Given the description of an element on the screen output the (x, y) to click on. 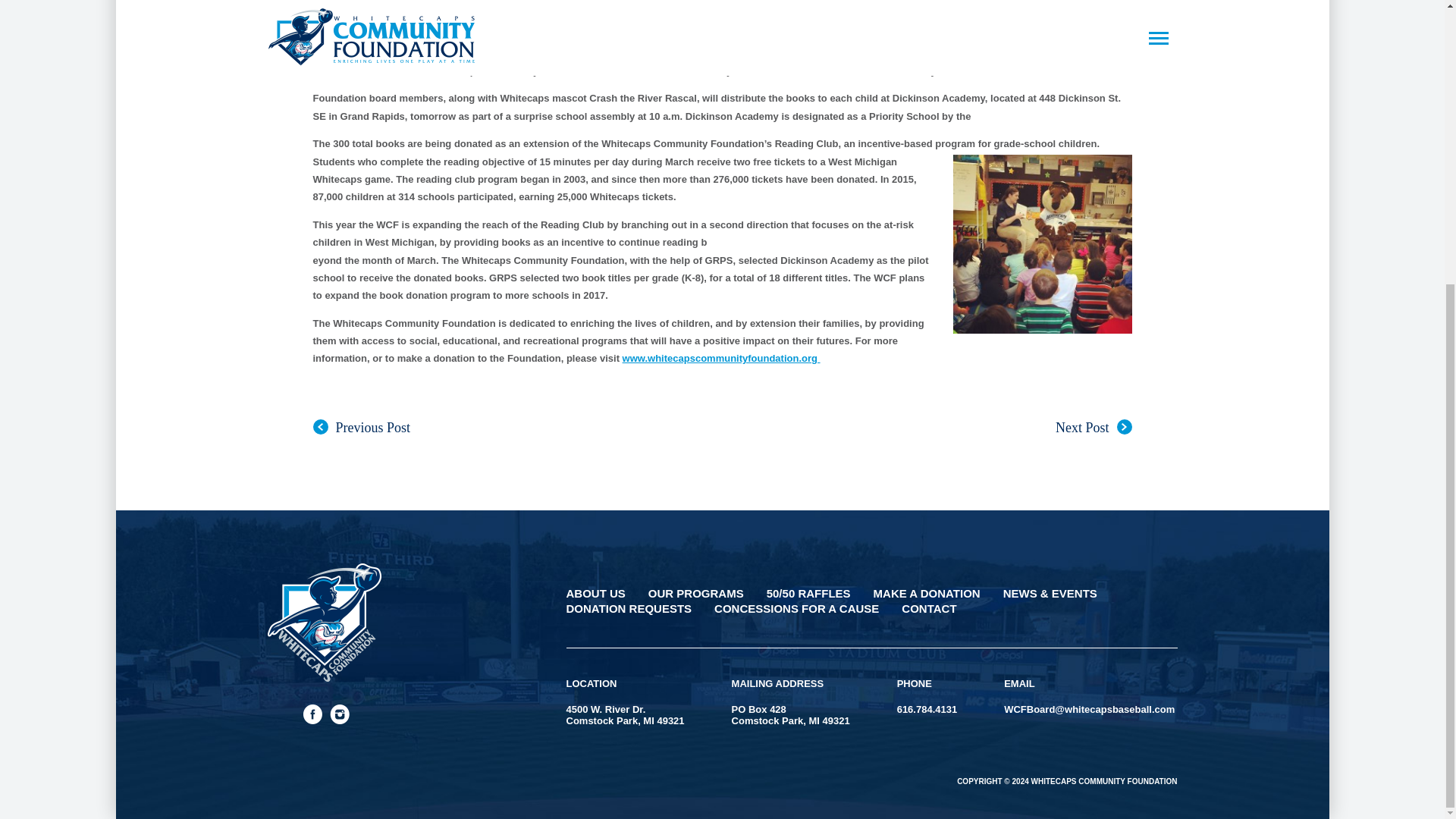
616.784.4131 (927, 708)
Next Post (1093, 427)
Previous Post (361, 427)
MAKE A DONATION (926, 593)
CONCESSIONS FOR A CAUSE (796, 608)
OUR PROGRAMS (695, 593)
ABOUT US (595, 593)
DONATION REQUESTS (628, 608)
CONTACT (928, 608)
www.whitecapscommunityfoundation.org  (722, 357)
